Given the description of an element on the screen output the (x, y) to click on. 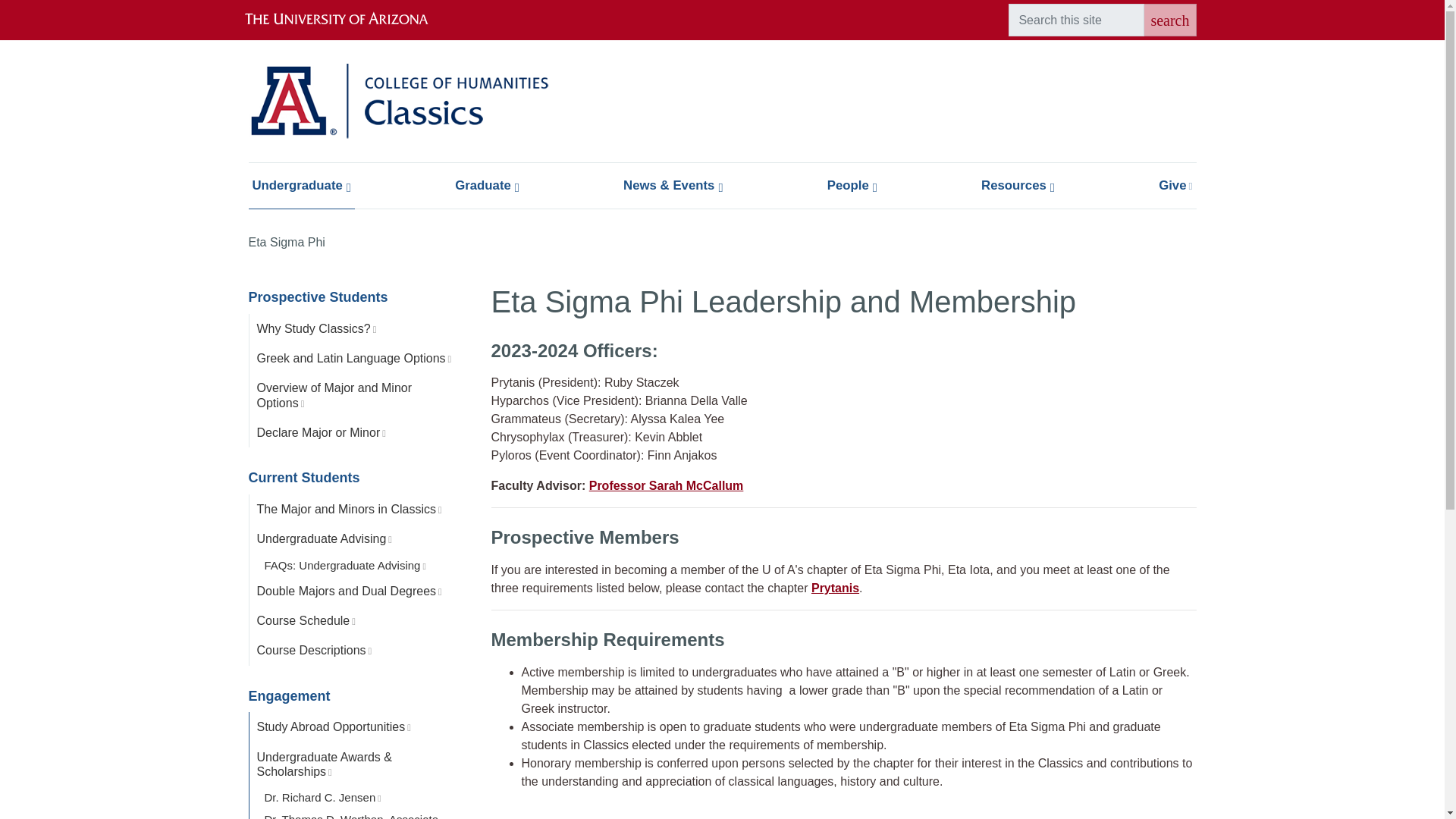
search (1168, 20)
The University of Arizona homepage (348, 20)
Skip to main content (721, 1)
Enter the terms you wish to search for. (1076, 20)
